Given the description of an element on the screen output the (x, y) to click on. 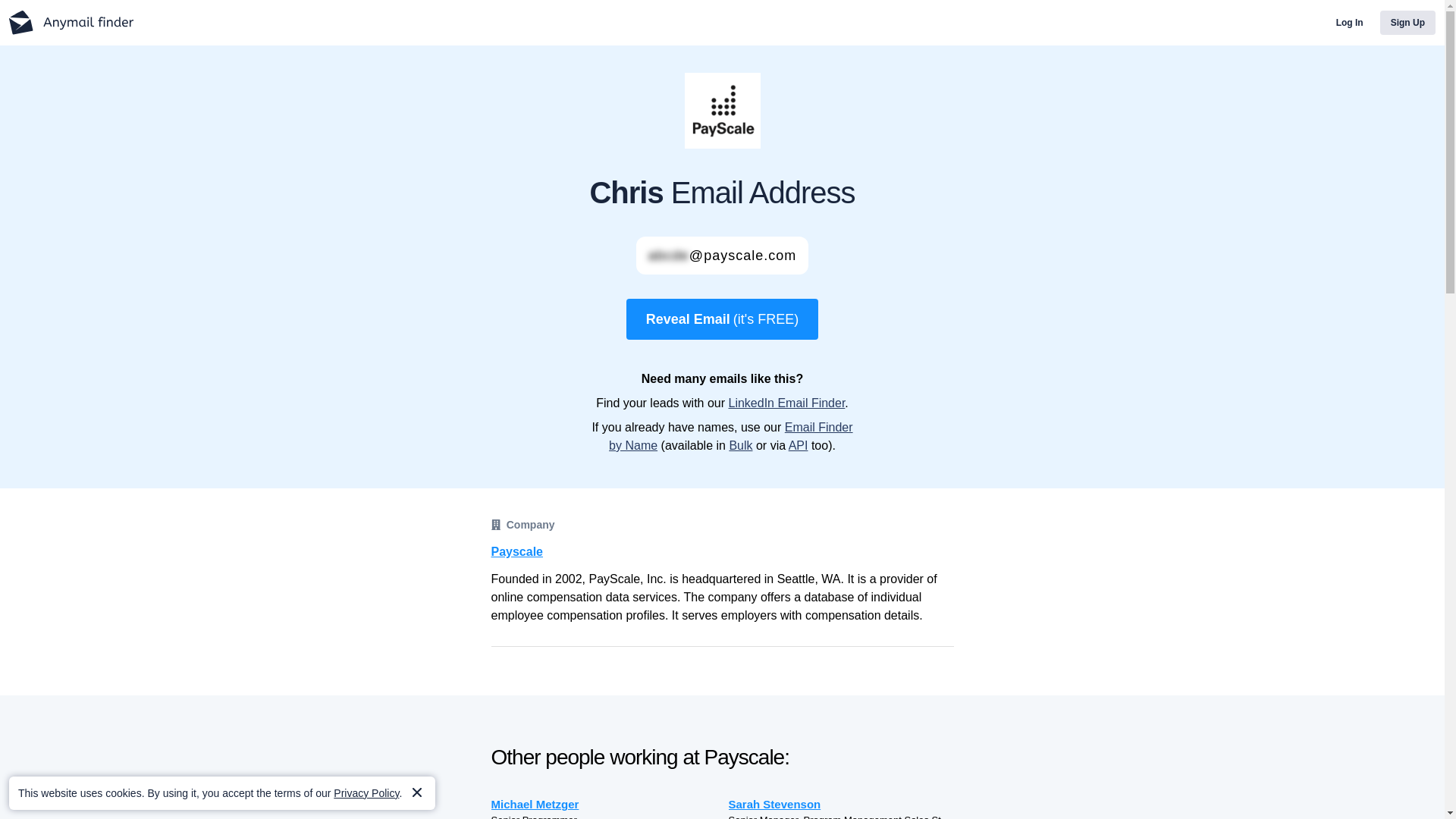
Bulk (740, 445)
LinkedIn Email Finder (786, 402)
Email Finder by Name (730, 436)
Sarah Stevenson (840, 804)
Log In (1349, 22)
Michael Metzger (604, 804)
Payscale (722, 551)
Sign Up (1407, 22)
API (798, 445)
